Given the description of an element on the screen output the (x, y) to click on. 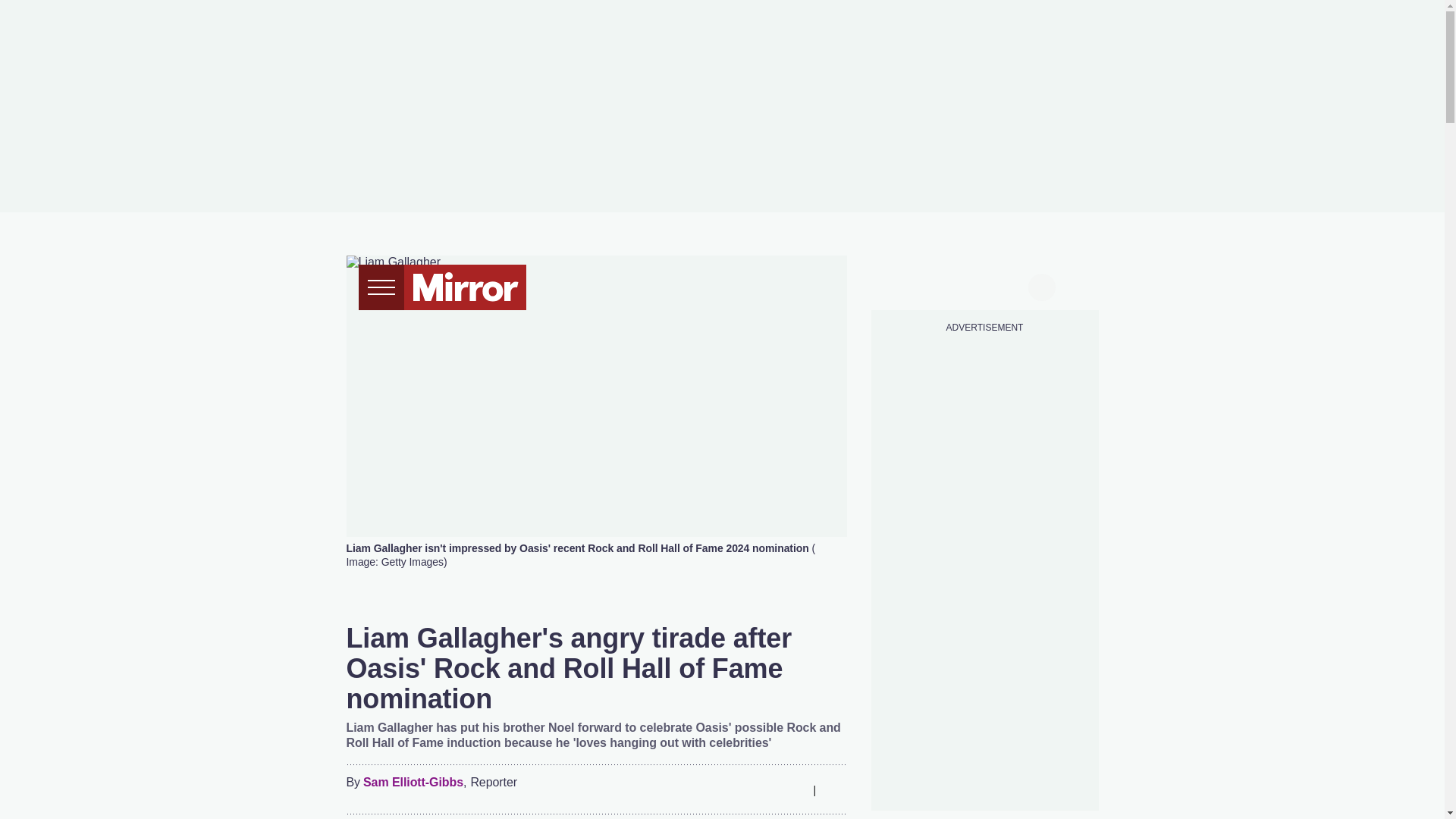
Facebook (702, 789)
Sam Elliott-Gibbs (412, 782)
instagram (984, 285)
tiktok (955, 285)
Twitter (733, 789)
twitter (926, 285)
facebook (897, 285)
snapchat (1012, 285)
Comments (834, 789)
Whatsapp (763, 789)
